Given the description of an element on the screen output the (x, y) to click on. 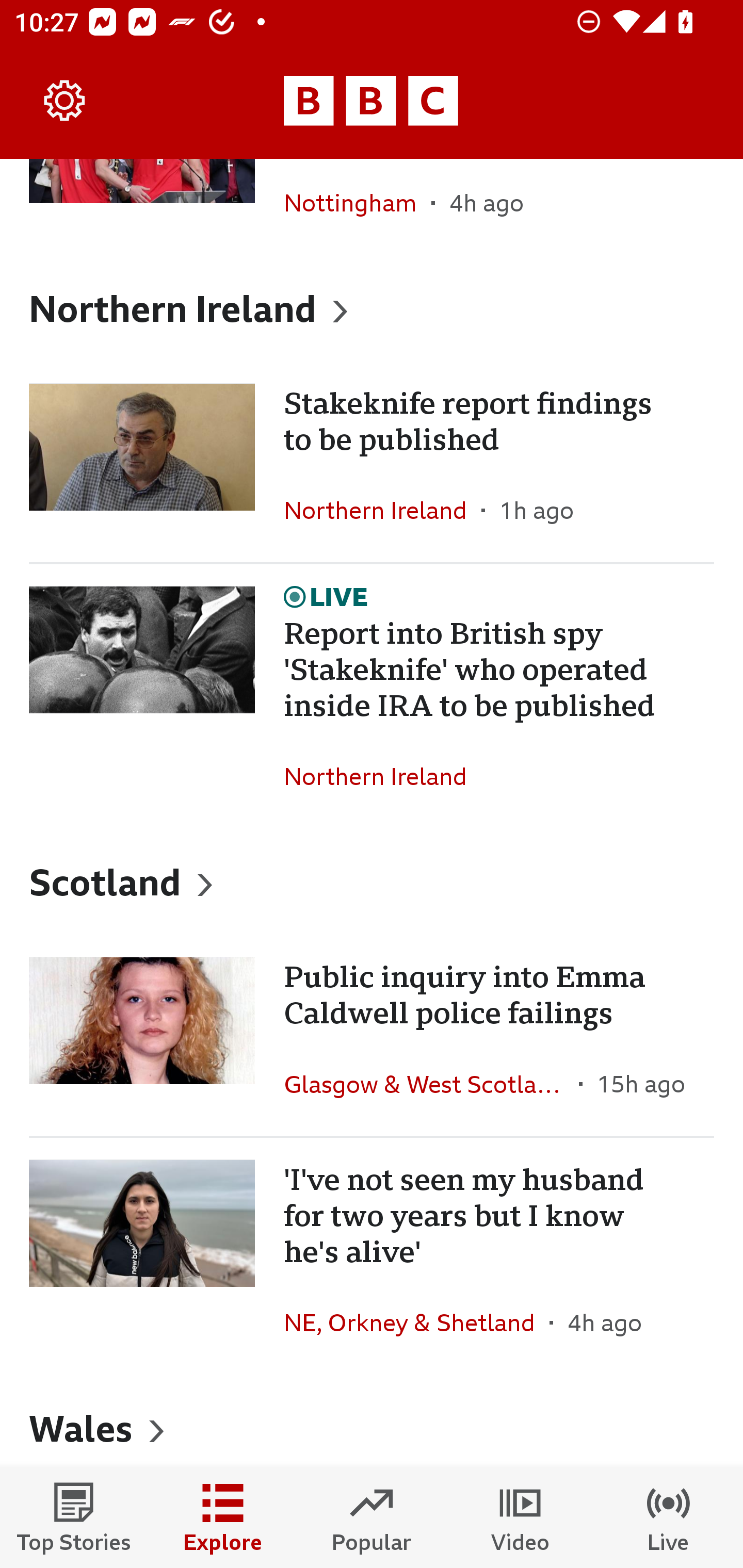
Settings (64, 100)
Nottingham In the section Nottingham (357, 206)
Northern Ireland, Heading Northern Ireland    (371, 308)
Northern Ireland In the section Northern Ireland (382, 509)
Northern Ireland In the section Northern Ireland (382, 775)
Scotland, Heading Scotland    (371, 880)
Wales, Heading Wales    (371, 1421)
Top Stories (74, 1517)
Popular (371, 1517)
Video (519, 1517)
Live (668, 1517)
